Given the description of an element on the screen output the (x, y) to click on. 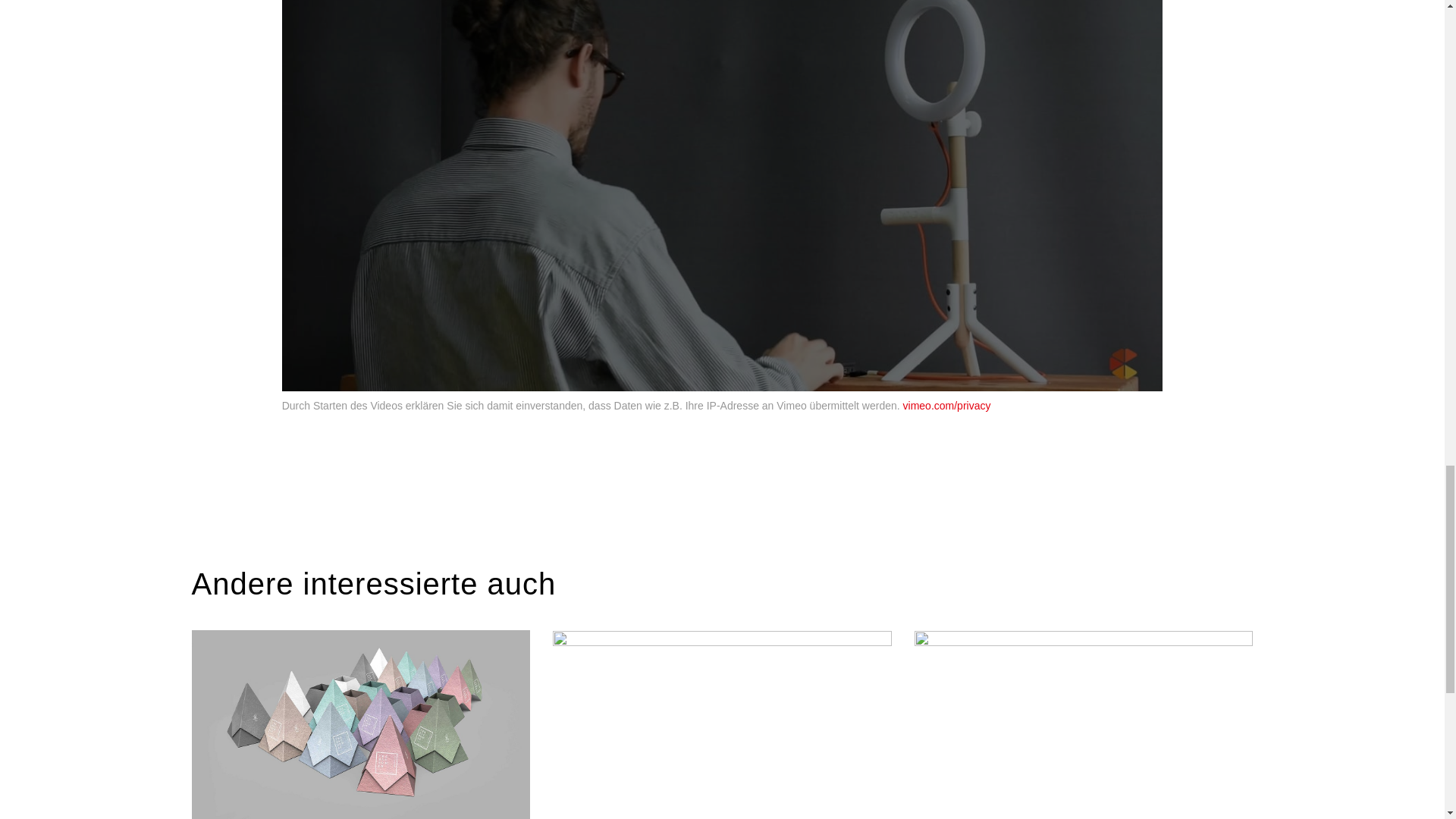
Fristads Green (1083, 724)
MOGU - Grow Mushrooms With Waste Paper (359, 724)
Yield Worm Compost System (722, 724)
